Given the description of an element on the screen output the (x, y) to click on. 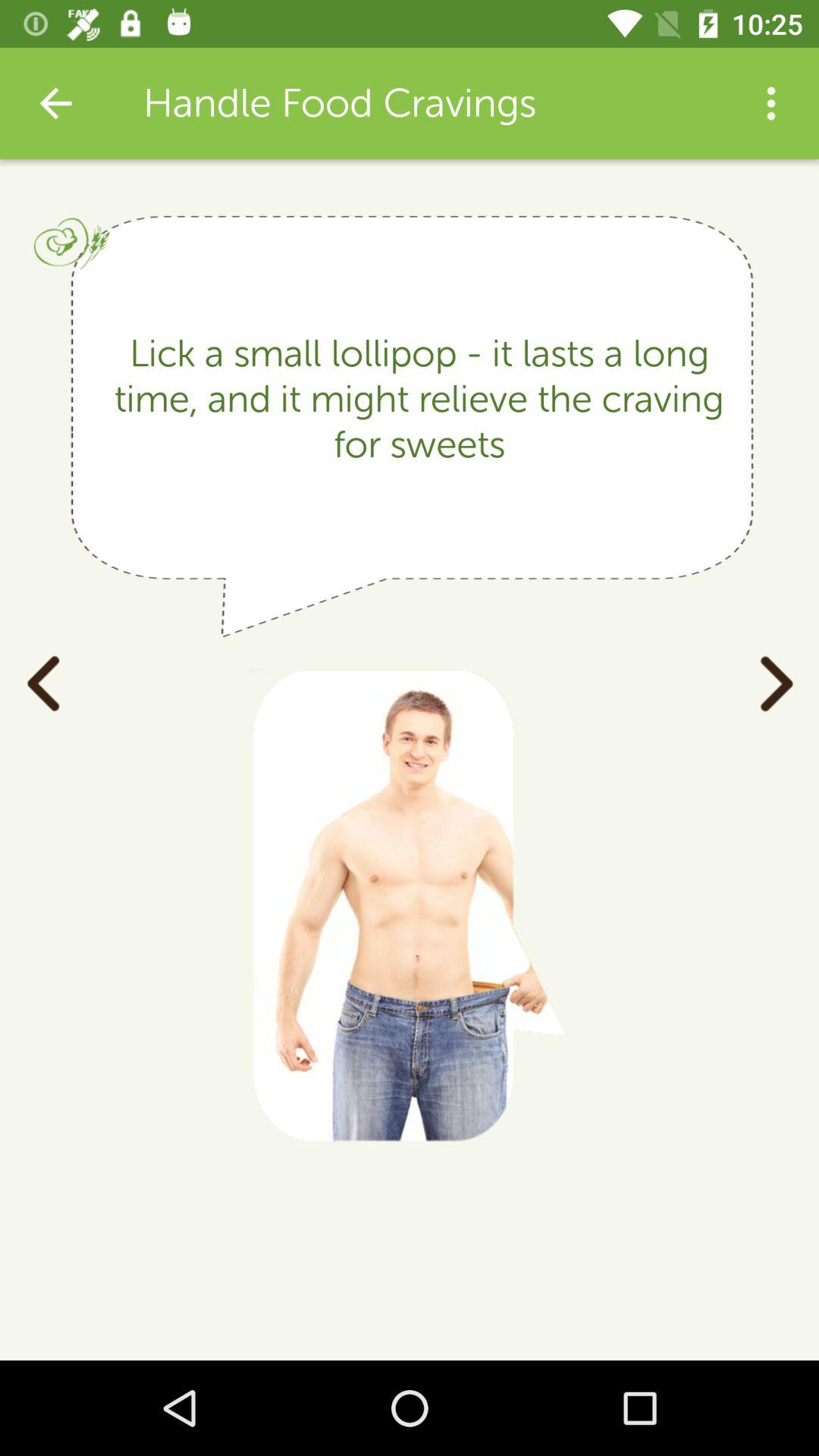
press item above the lick a small icon (55, 103)
